Given the description of an element on the screen output the (x, y) to click on. 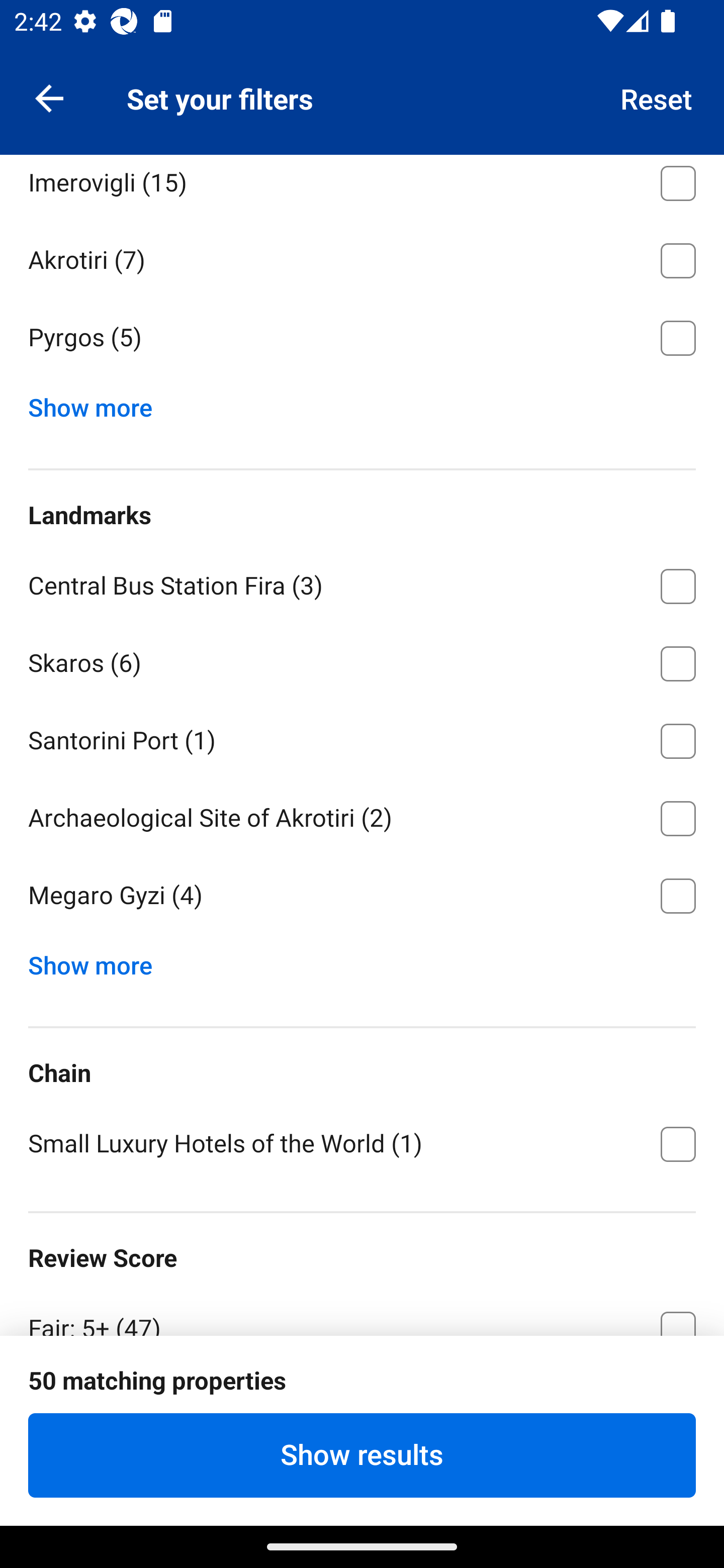
Navigate up (49, 97)
Reset (656, 97)
Oia ⁦(11) (361, 102)
Imerovigli ⁦(15) (361, 186)
Akrotiri ⁦(7) (361, 256)
Pyrgos ⁦(5) (361, 338)
Show more (97, 403)
Central Bus Station Fira ⁦(3) (361, 582)
Skaros ⁦(6) (361, 659)
Santorini Port ⁦(1) (361, 737)
Archaeological Site of Akrotiri ⁦(2) (361, 815)
Megaro Gyzi ⁦(4) (361, 895)
Show more (97, 960)
Small Luxury Hotels of the World ⁦(1) (361, 1142)
Fair: 5+ ⁦(47) (361, 1311)
Pleasant: 6+ ⁦(47) (361, 1403)
Show results (361, 1454)
